Given the description of an element on the screen output the (x, y) to click on. 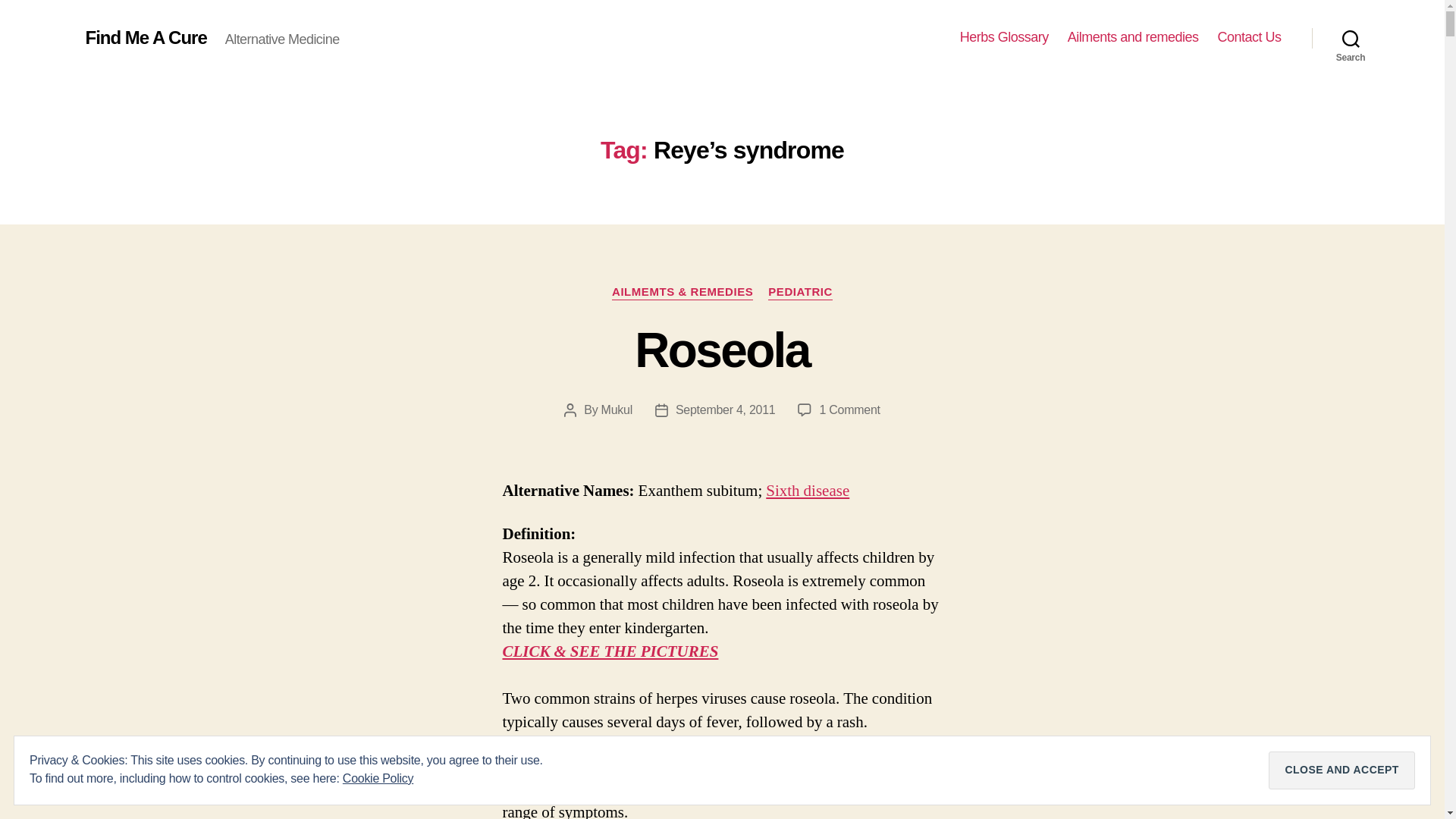
Sixth disease (806, 490)
Contact Us (1249, 37)
Exanthema subitum (848, 409)
Mukul (806, 490)
September 4, 2011 (616, 409)
Roseola (725, 409)
Close and accept (721, 349)
PEDIATRIC (1341, 770)
Herbs Glossary (800, 292)
Find Me A Cure (1003, 37)
Search (145, 37)
Ailments and remedies (1350, 37)
